Given the description of an element on the screen output the (x, y) to click on. 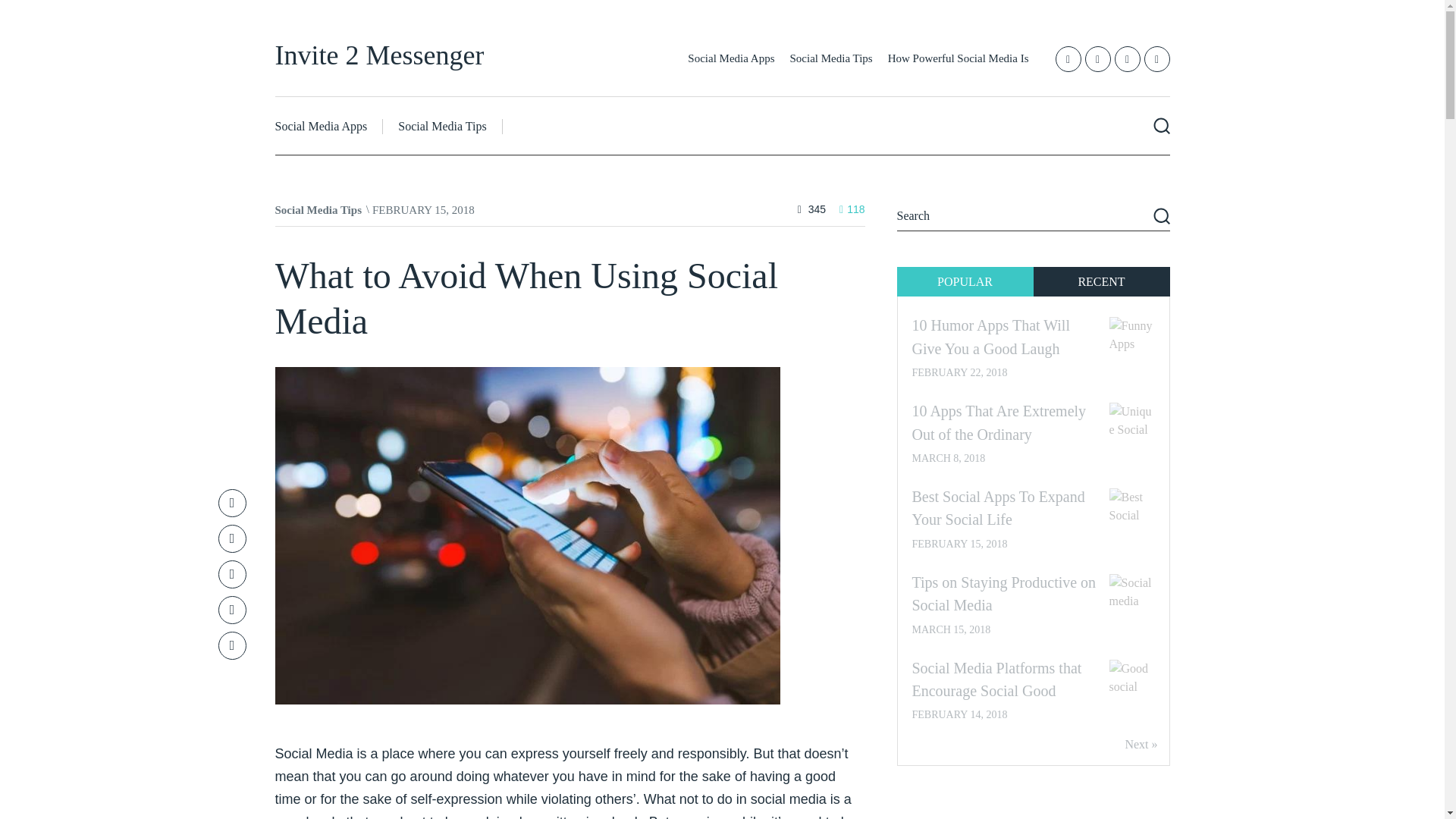
Social Media Apps (328, 126)
Social Media Tips (442, 126)
10 Apps That Are Extremely Out of the Ordinary (998, 422)
10 Apps That Are Extremely Out of the Ordinary (998, 422)
118 (852, 209)
Invite 2 Messenger (379, 54)
10 Humor Apps That Will Give You a Good Laugh (989, 336)
POPULAR (964, 281)
Social Media Tips (831, 58)
View all posts in Social Media Tips (318, 209)
